Given the description of an element on the screen output the (x, y) to click on. 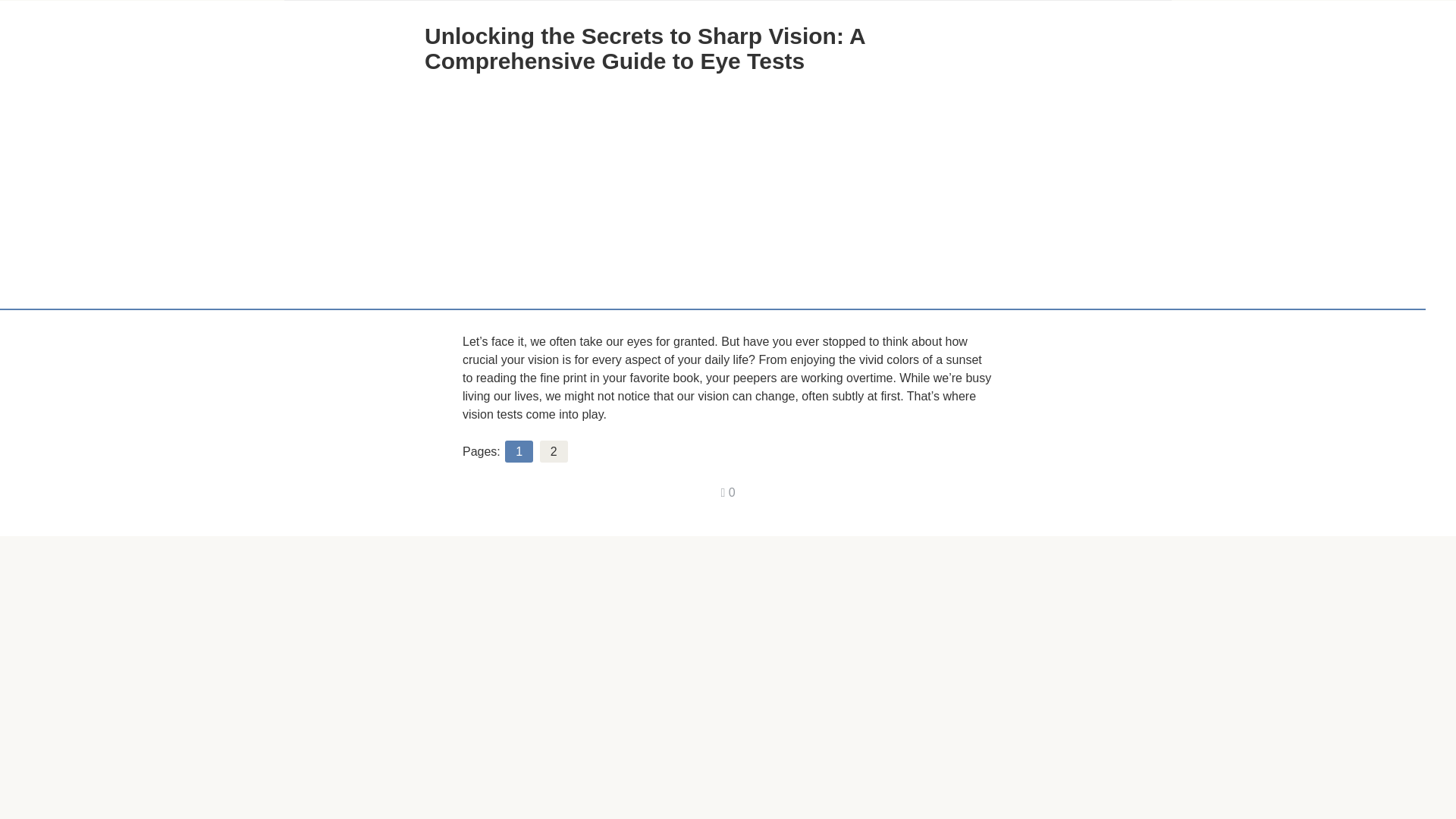
2 (553, 451)
Comments (727, 492)
